Given the description of an element on the screen output the (x, y) to click on. 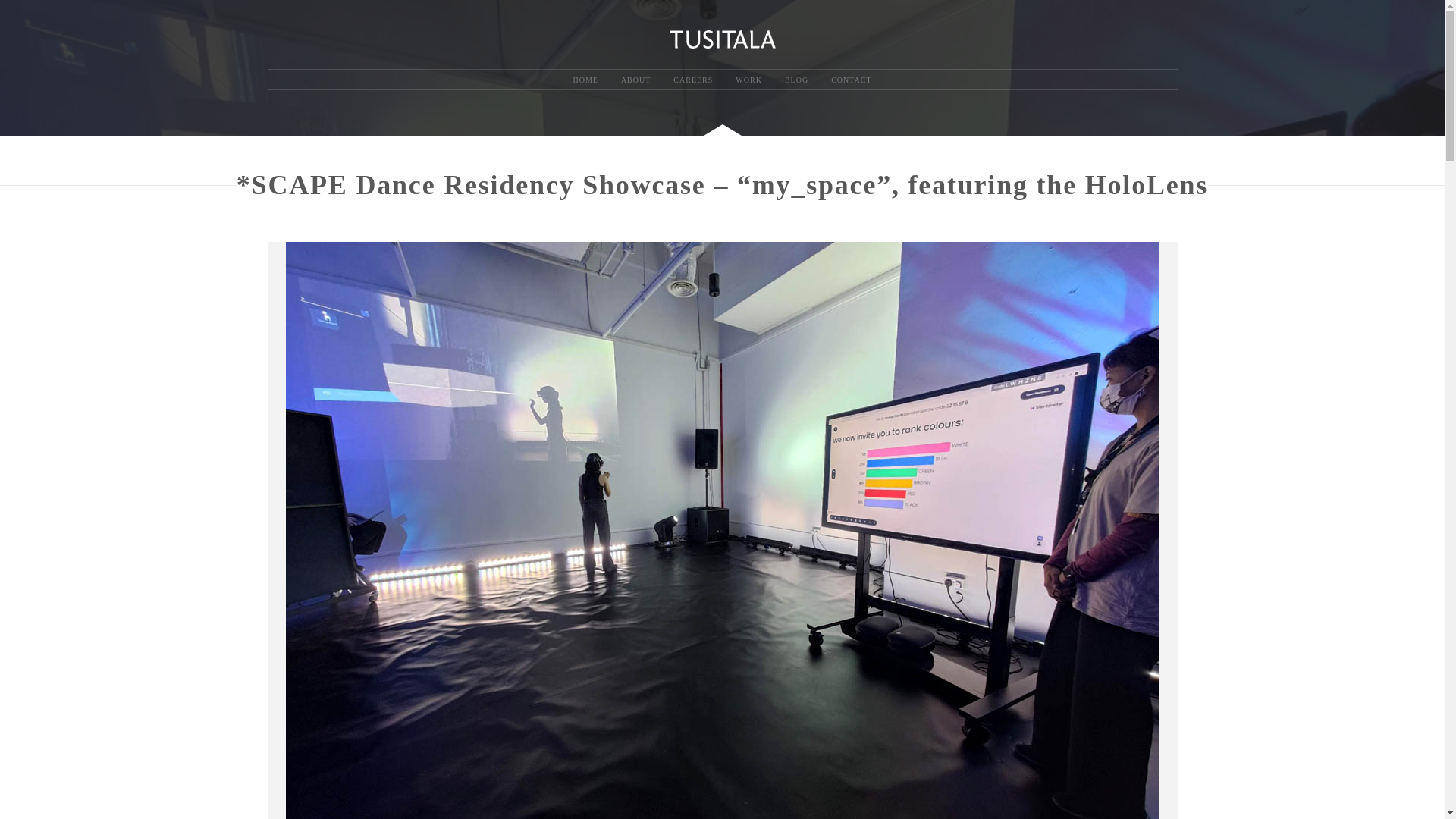
HOME (584, 80)
BLOG (796, 80)
ABOUT (635, 80)
WORK (748, 80)
CONTACT (850, 80)
CAREERS (692, 80)
